Given the description of an element on the screen output the (x, y) to click on. 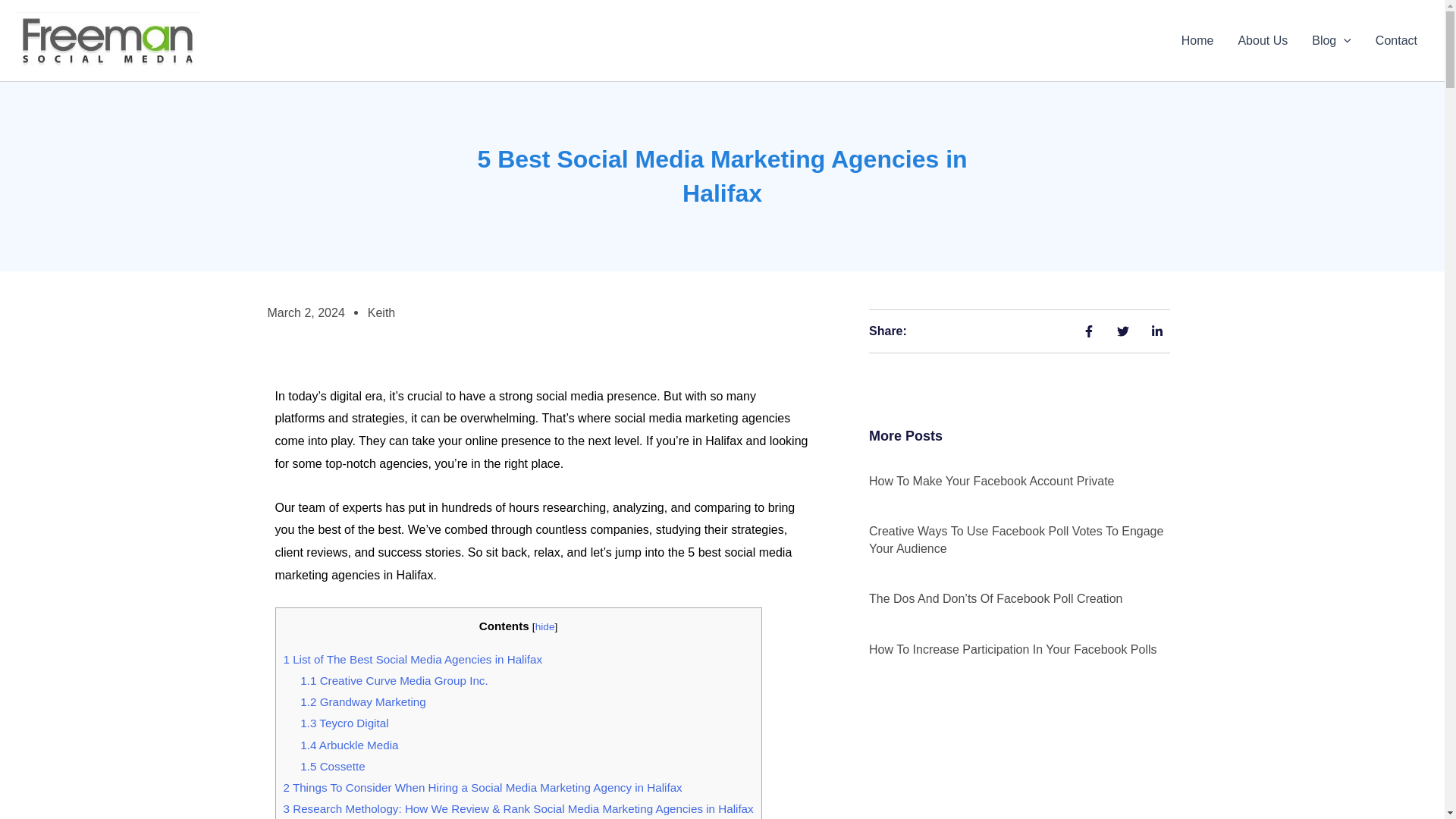
1.2 Grandway Marketing (362, 701)
Contact (1395, 40)
1.5 Cossette (332, 766)
Keith (381, 313)
Home (1197, 40)
1.1 Creative Curve Media Group Inc. (393, 680)
Blog (1331, 40)
1 List of The Best Social Media Agencies in Halifax (413, 658)
About Us (1262, 40)
March 2, 2024 (304, 313)
1.3 Teycro Digital (343, 722)
1.4 Arbuckle Media (348, 744)
hide (544, 626)
